Given the description of an element on the screen output the (x, y) to click on. 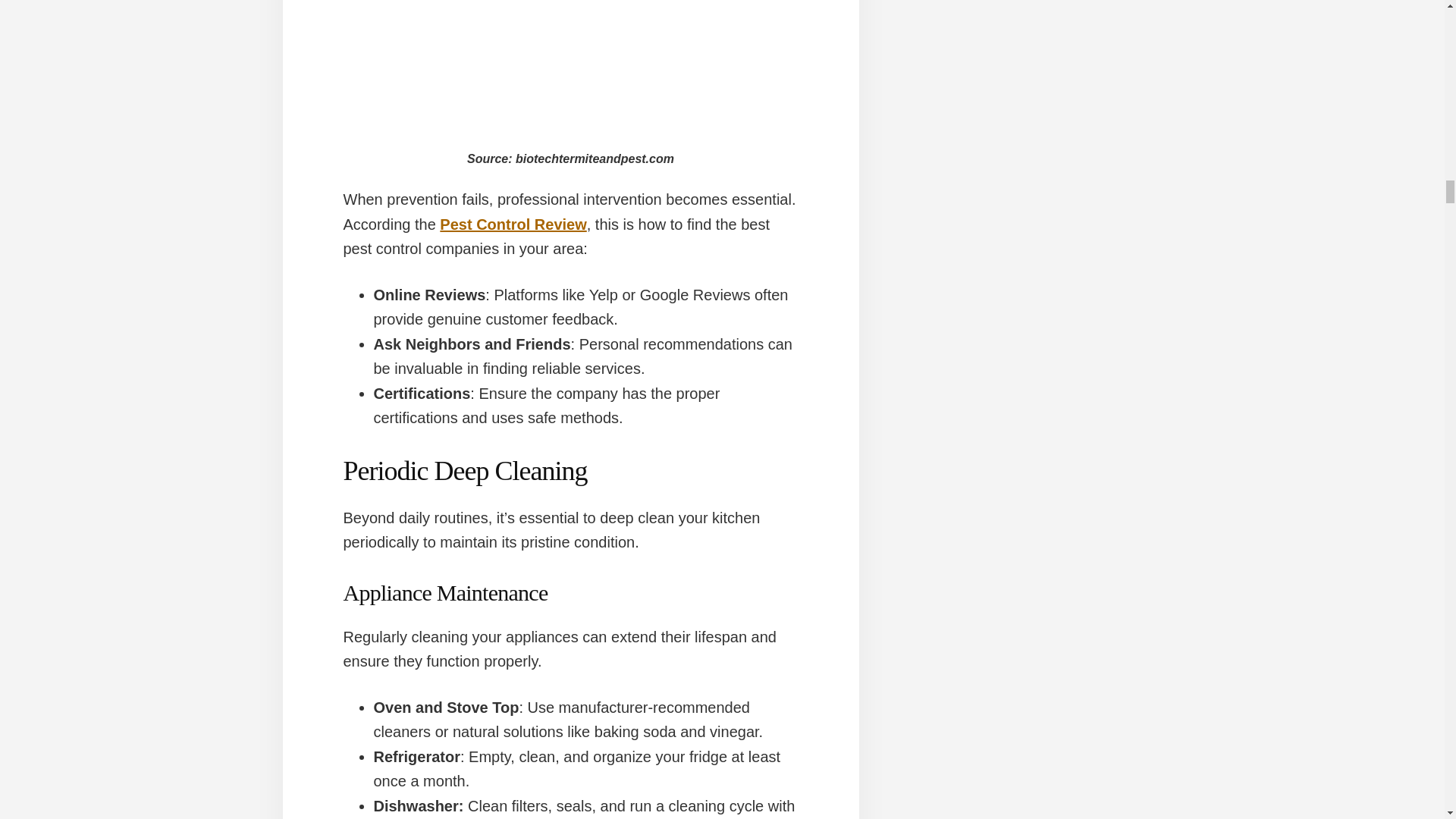
Pest Control Review (512, 224)
